Given the description of an element on the screen output the (x, y) to click on. 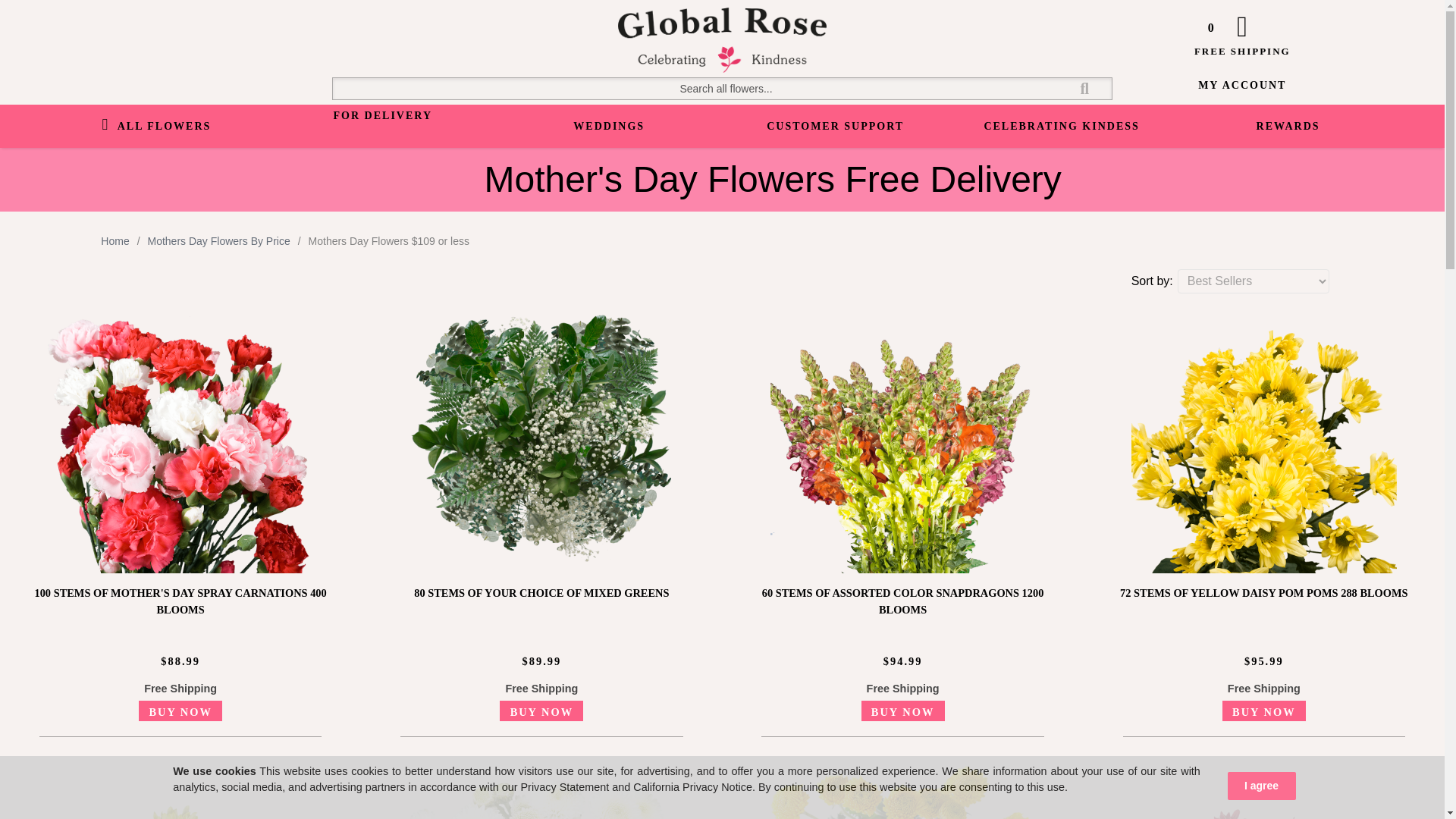
Mothers Day Flowers By Price (218, 241)
GlobalRose (722, 69)
I agree (1261, 786)
Search all flowers... (721, 87)
search (721, 87)
search-button (1084, 87)
Search all flowers... (721, 87)
Home (114, 241)
GlobalRose.com (722, 39)
Cart (1242, 25)
